Given the description of an element on the screen output the (x, y) to click on. 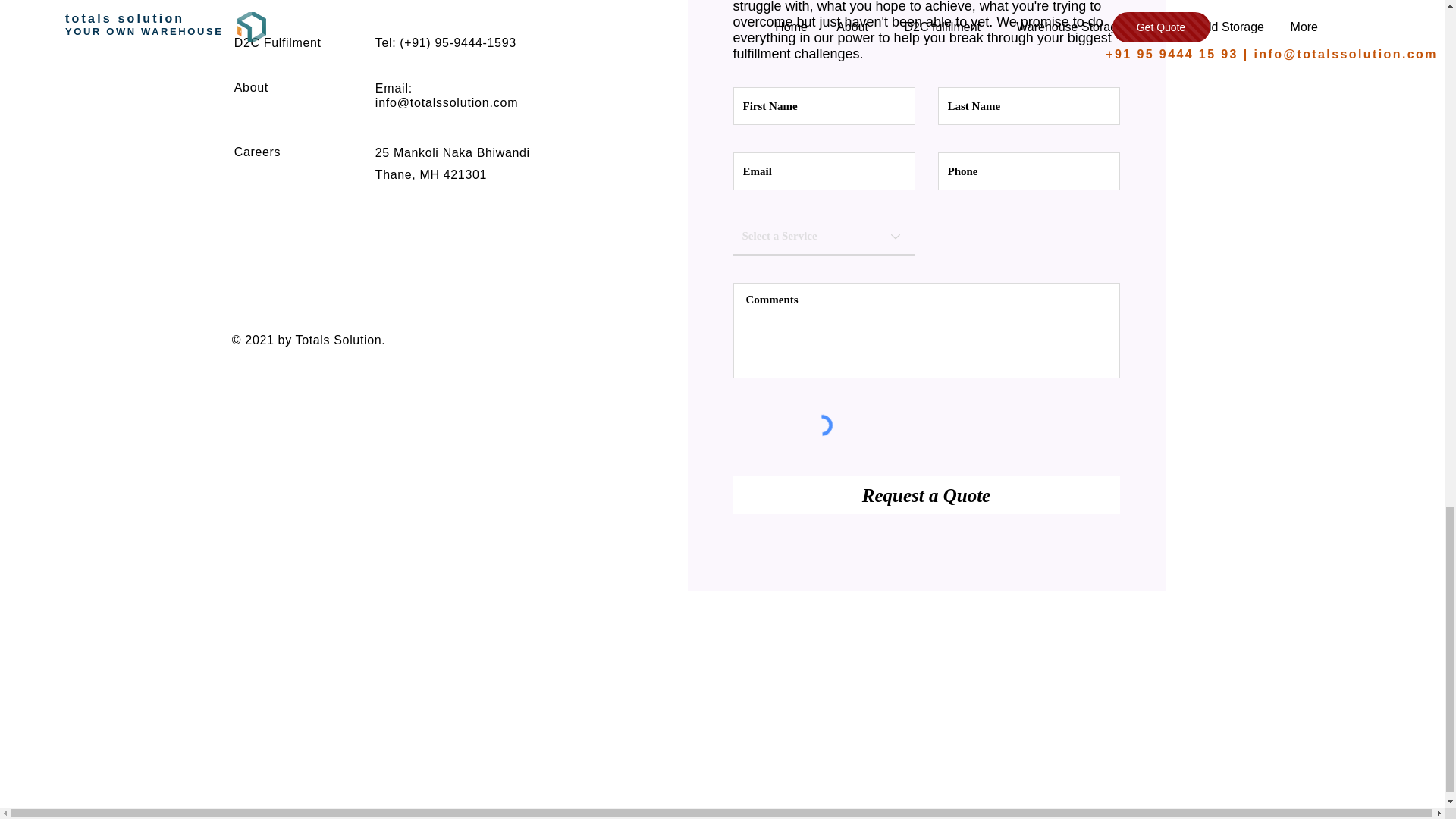
Request a Quote (925, 494)
About (250, 87)
D2C Fulfilment (277, 42)
Careers (257, 151)
